Given the description of an element on the screen output the (x, y) to click on. 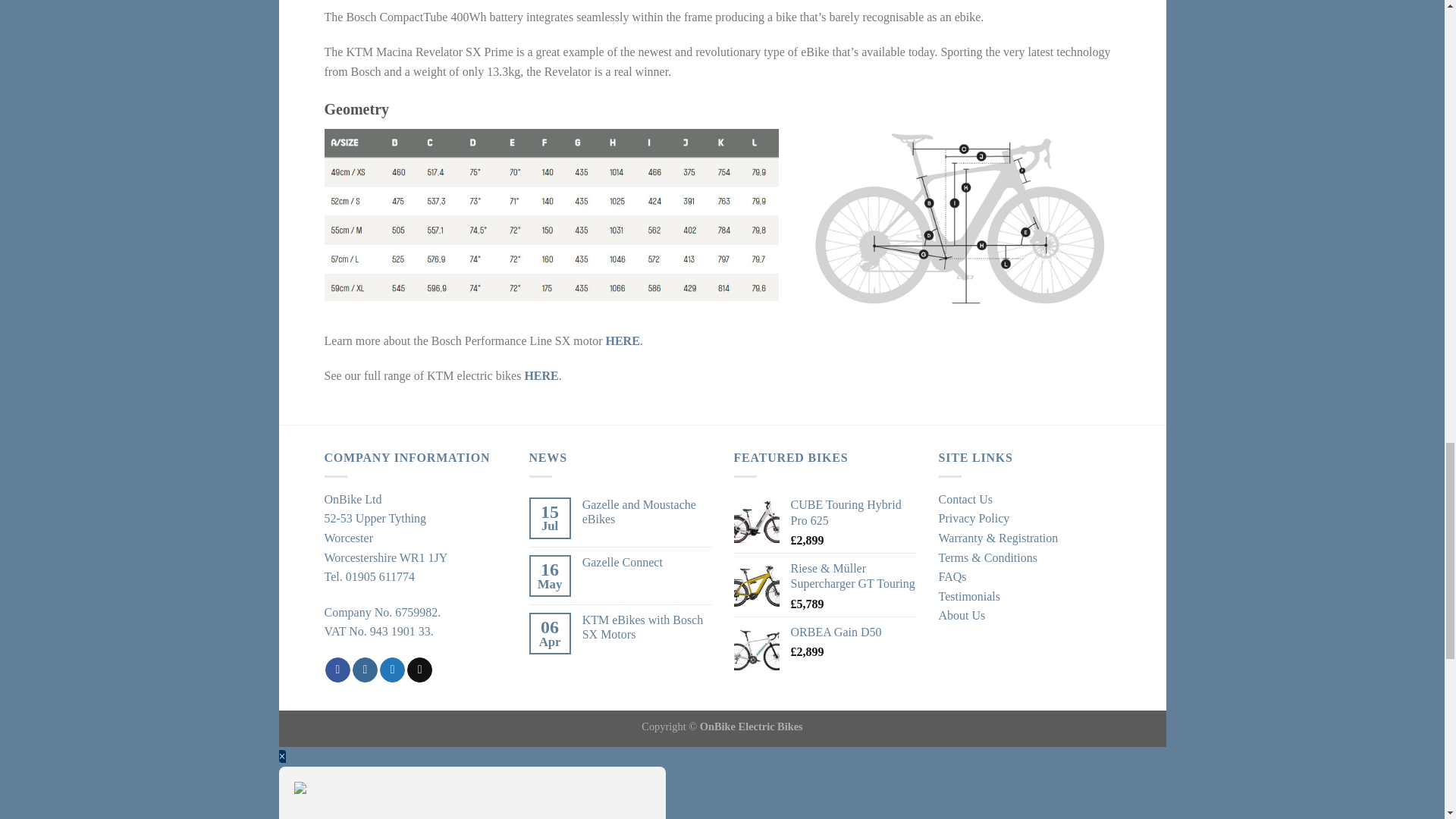
Follow on Facebook (337, 670)
Follow on Instagram (364, 670)
